Given the description of an element on the screen output the (x, y) to click on. 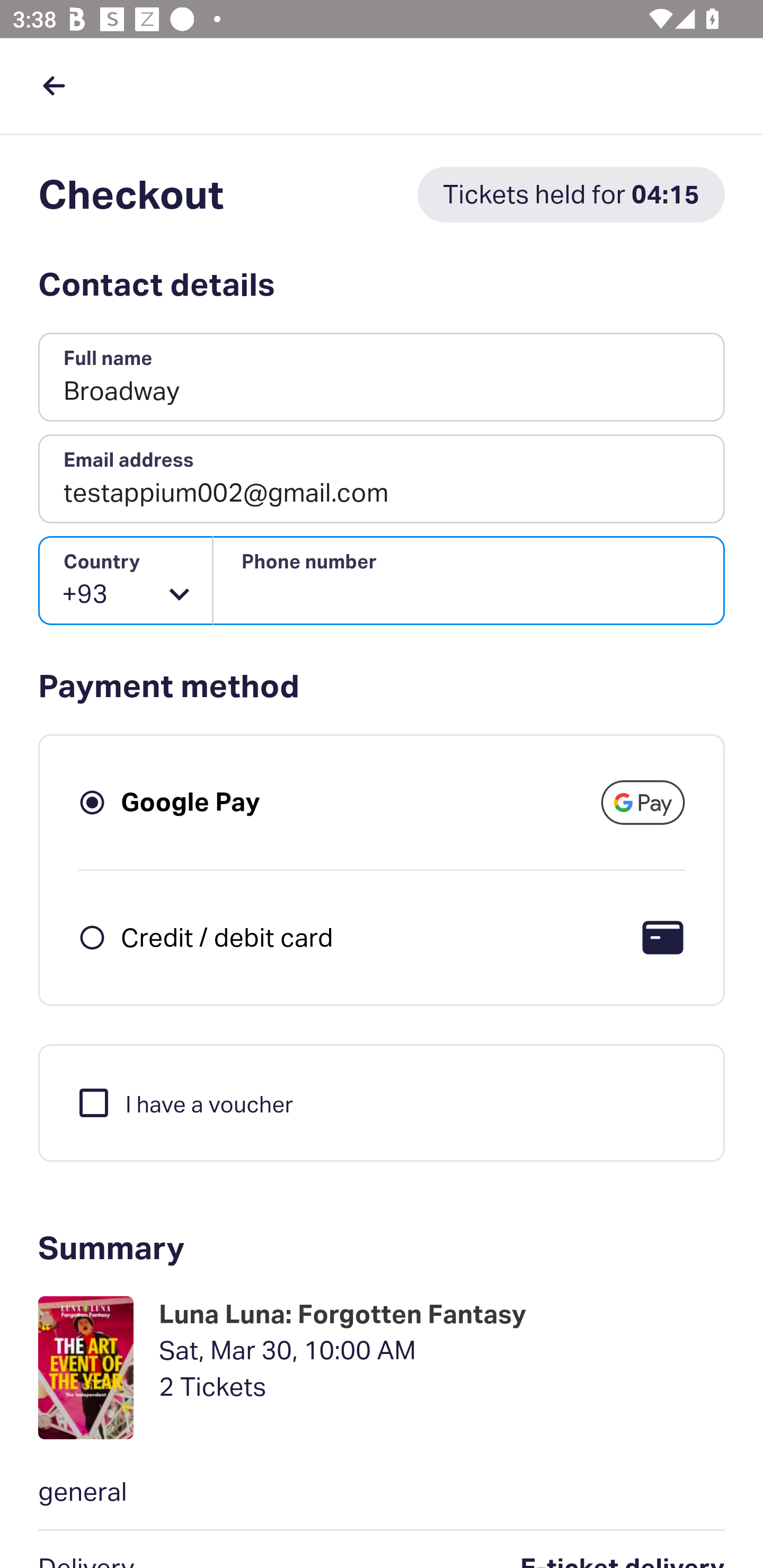
back button (53, 85)
Broadway (381, 377)
testappium002@gmail.com (381, 478)
  +93 (126, 580)
Google Pay (190, 802)
Credit / debit card (227, 936)
I have a voucher (183, 1101)
